Given the description of an element on the screen output the (x, y) to click on. 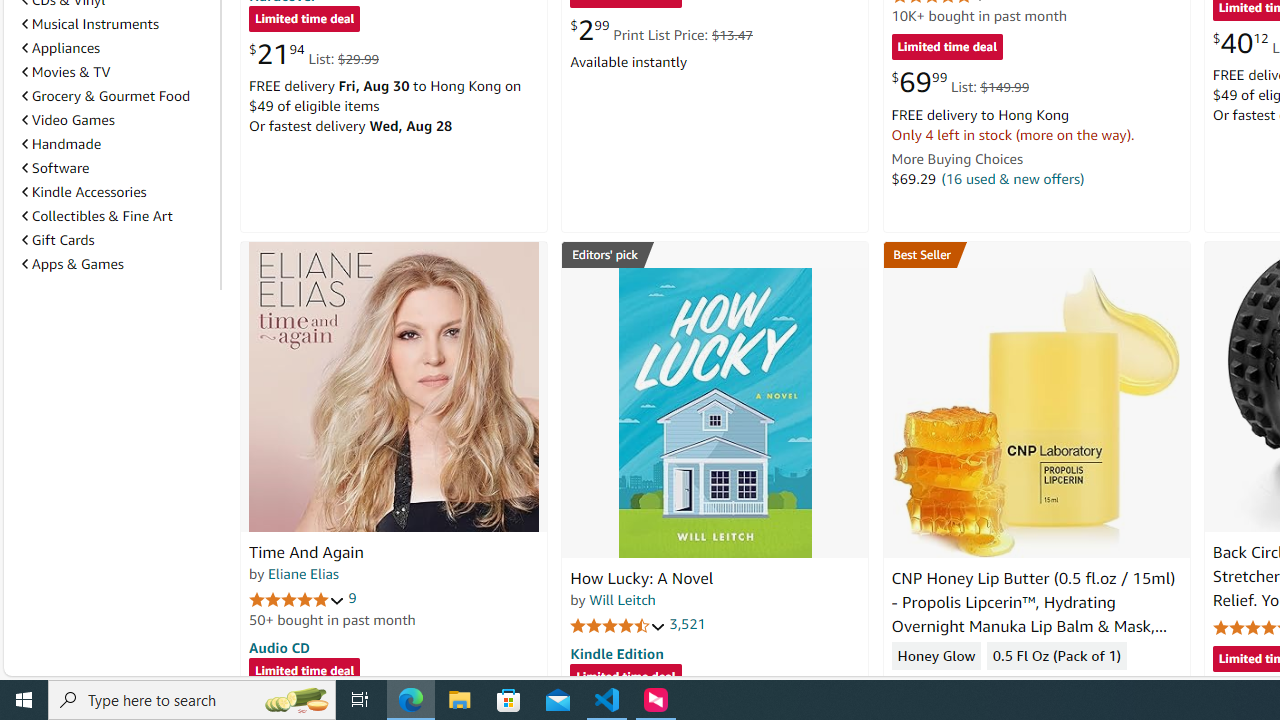
Grocery & Gourmet Food (117, 95)
Apps & Games (117, 264)
Handmade (117, 143)
Movies & TV (117, 71)
$69.99 List: $149.99 (960, 82)
Kindle Accessories (84, 191)
Musical Instruments (117, 23)
Handmade (61, 143)
Video Games (117, 120)
3,521 (687, 624)
Audio CD (279, 646)
Will Leitch (621, 599)
Video Games (68, 119)
